Given the description of an element on the screen output the (x, y) to click on. 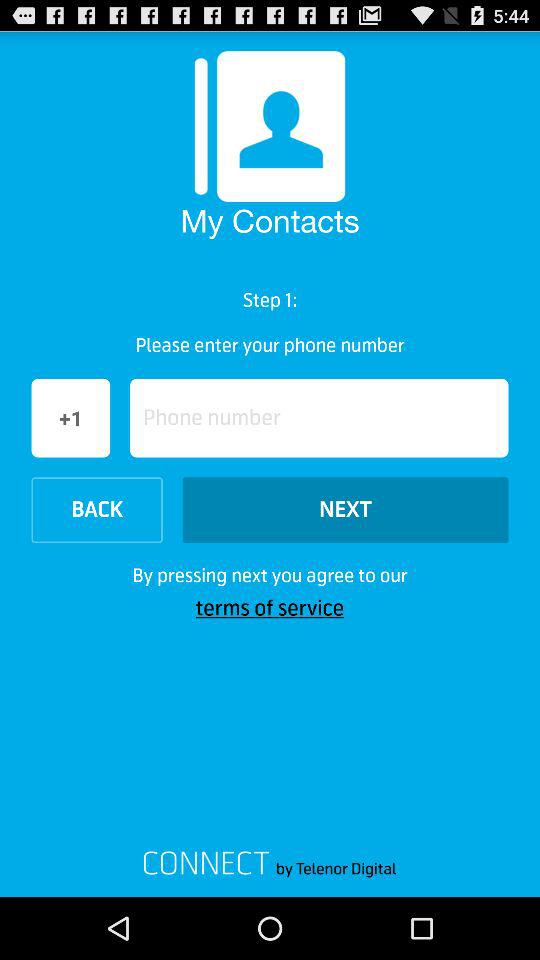
open terms of service item (269, 608)
